Given the description of an element on the screen output the (x, y) to click on. 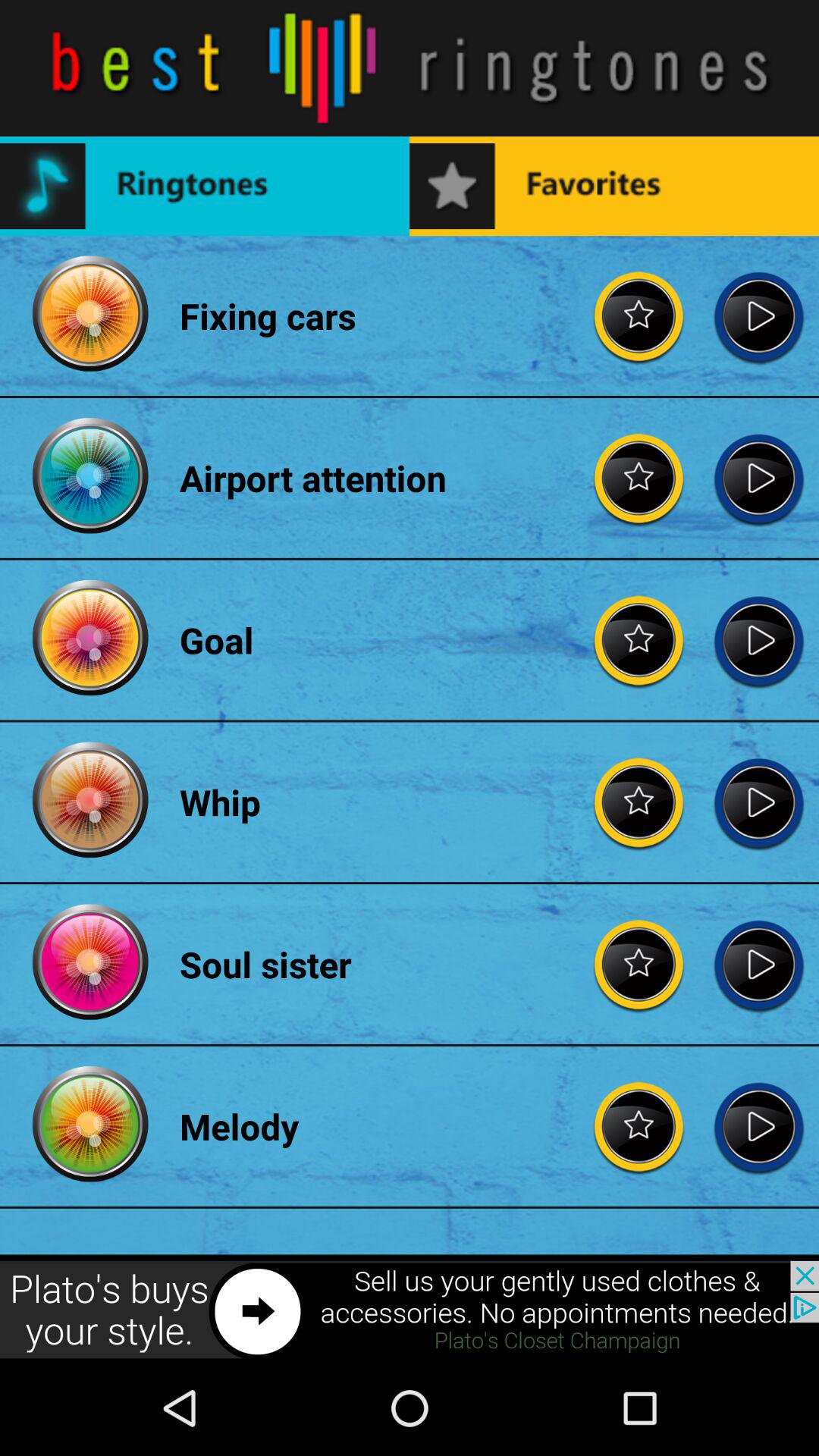
click to rating (639, 1126)
